Given the description of an element on the screen output the (x, y) to click on. 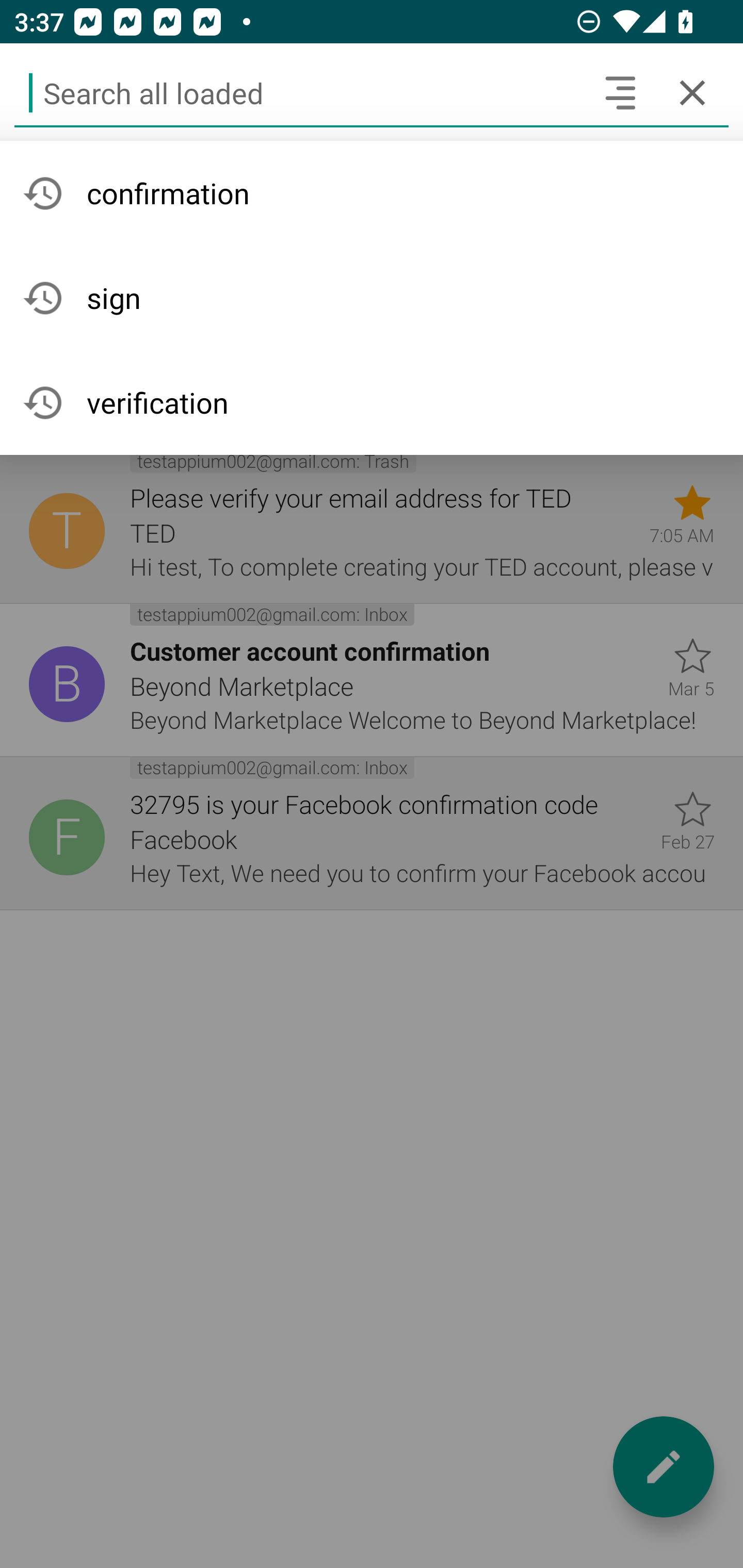
   Search all loaded (298, 92)
Search headers and text (619, 92)
Cancel (692, 92)
